Given the description of an element on the screen output the (x, y) to click on. 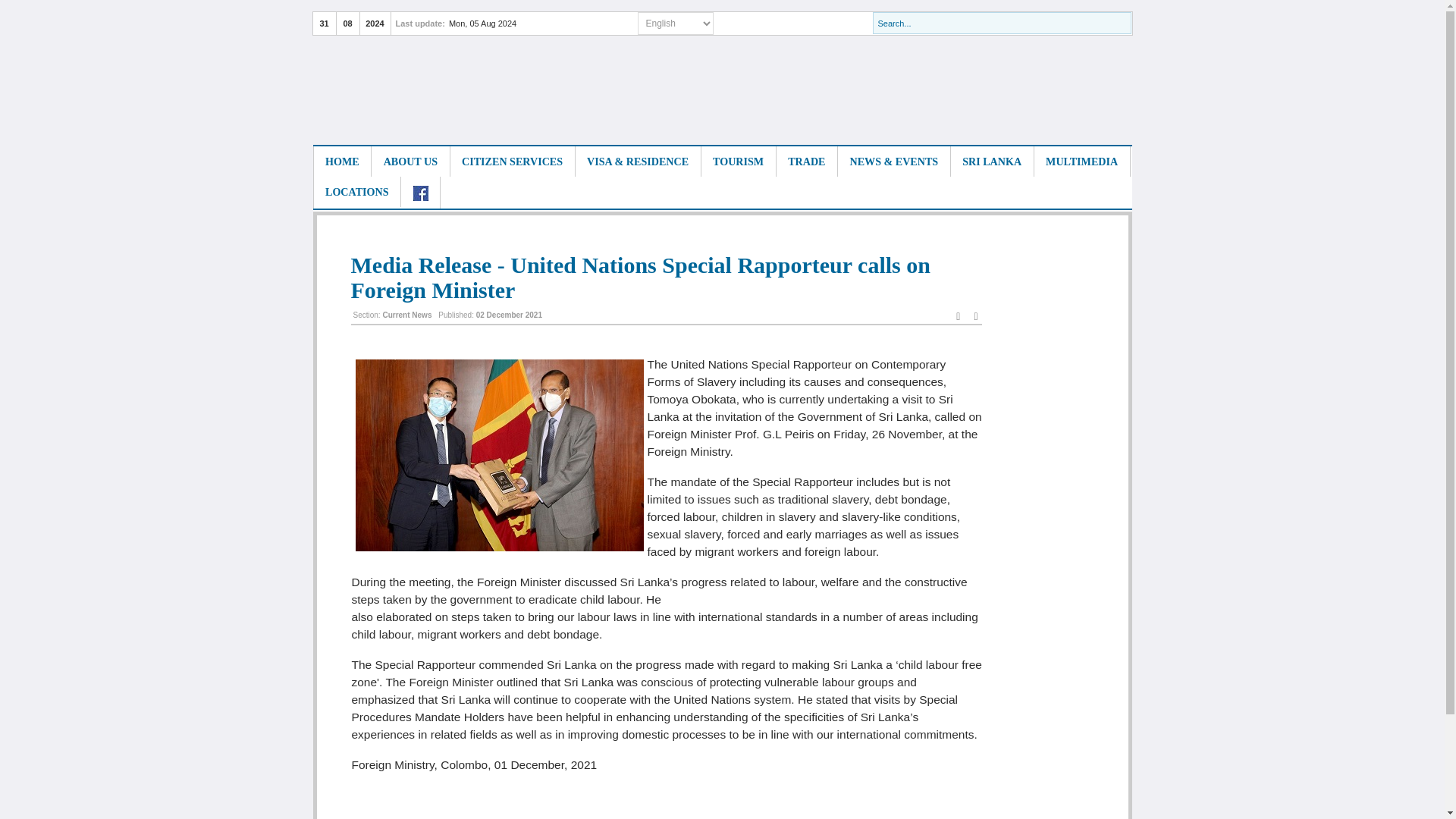
HOME (341, 161)
Print (957, 316)
CITIZEN SERVICES (512, 161)
Email (975, 316)
ABOUT US (410, 161)
